Given the description of an element on the screen output the (x, y) to click on. 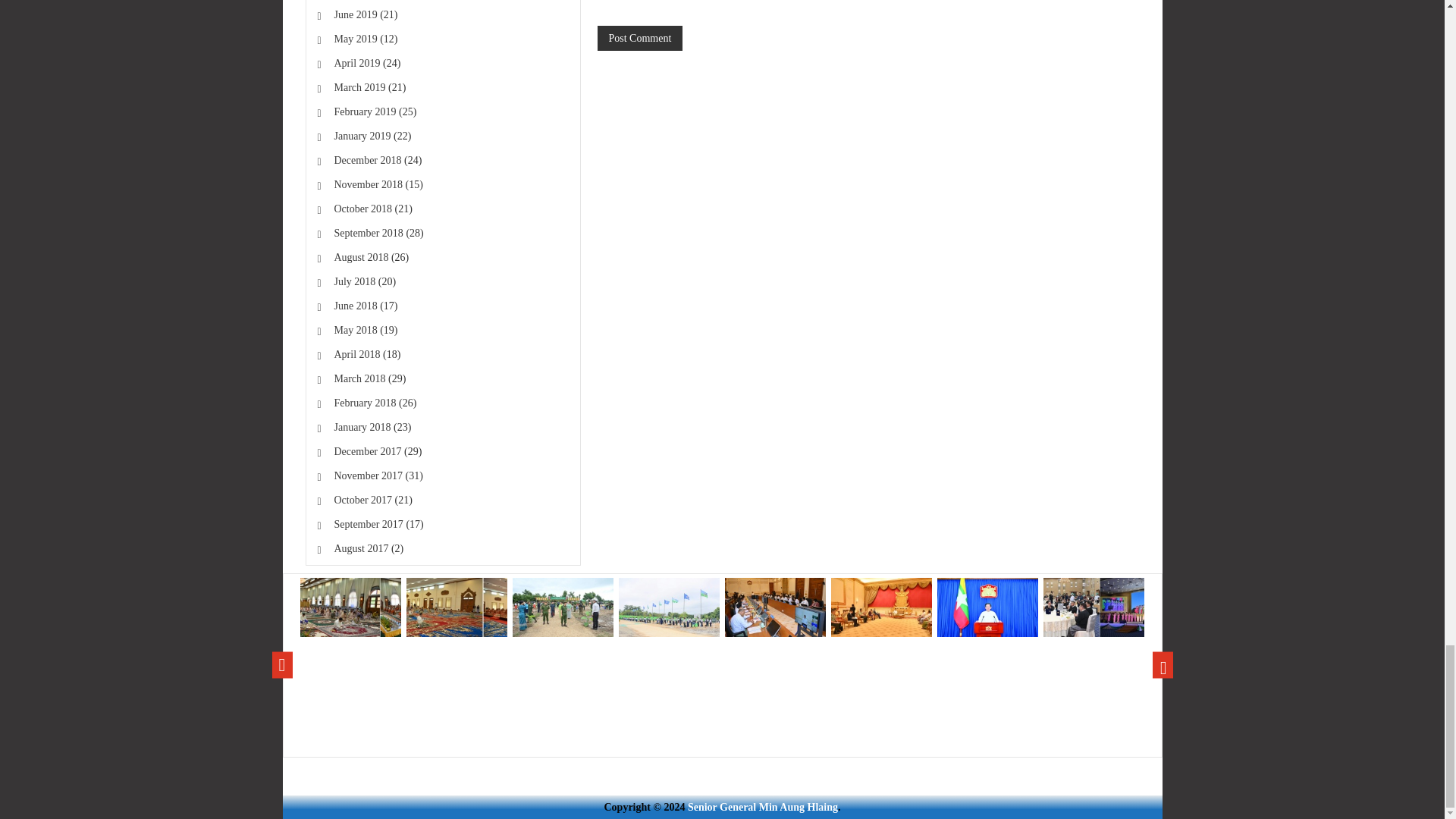
Post Comment (639, 37)
